Given the description of an element on the screen output the (x, y) to click on. 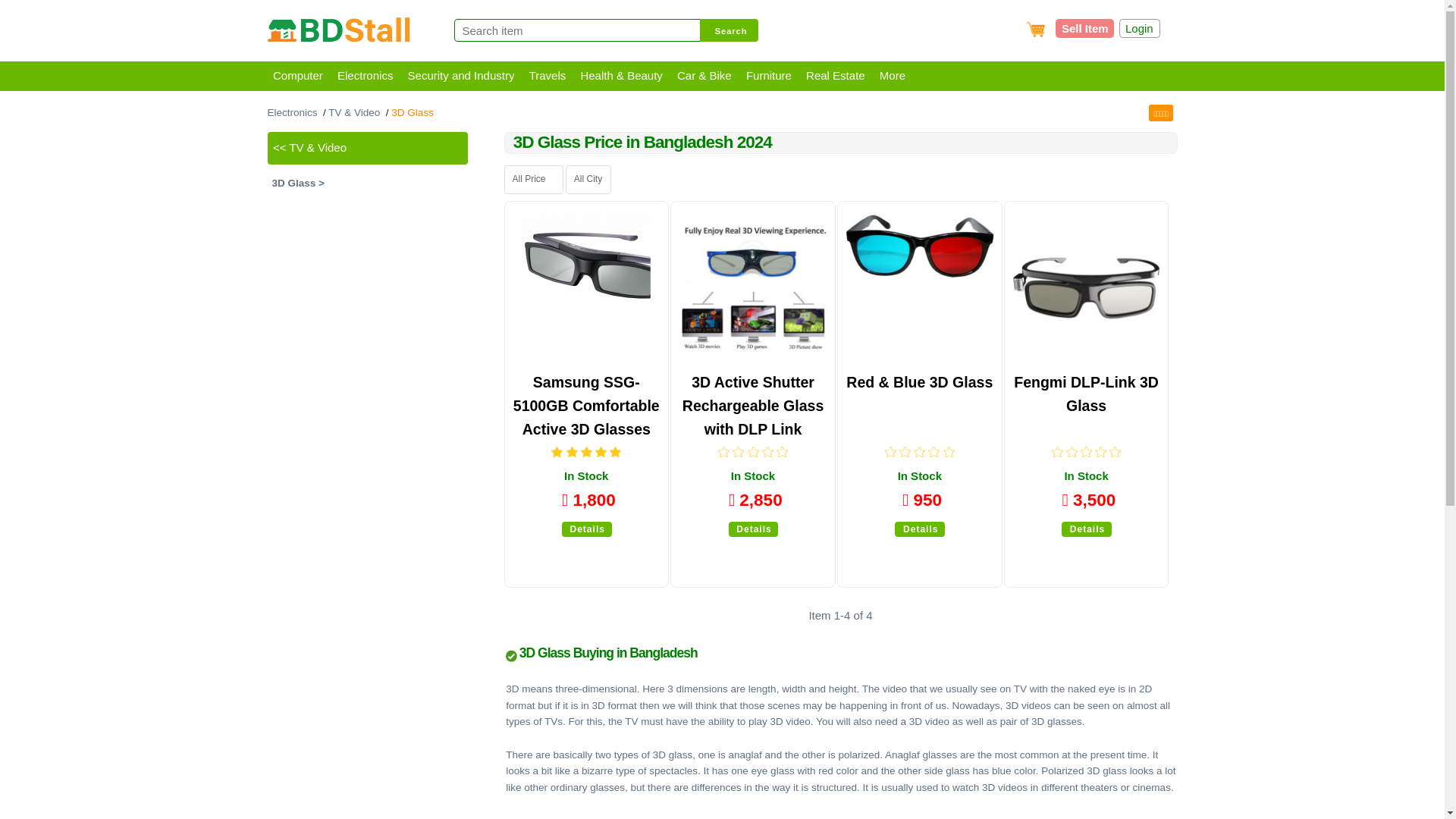
bdstall.com (338, 31)
Computer (297, 75)
Search (729, 29)
Search (729, 29)
Search (729, 29)
Cart (1035, 29)
